Given the description of an element on the screen output the (x, y) to click on. 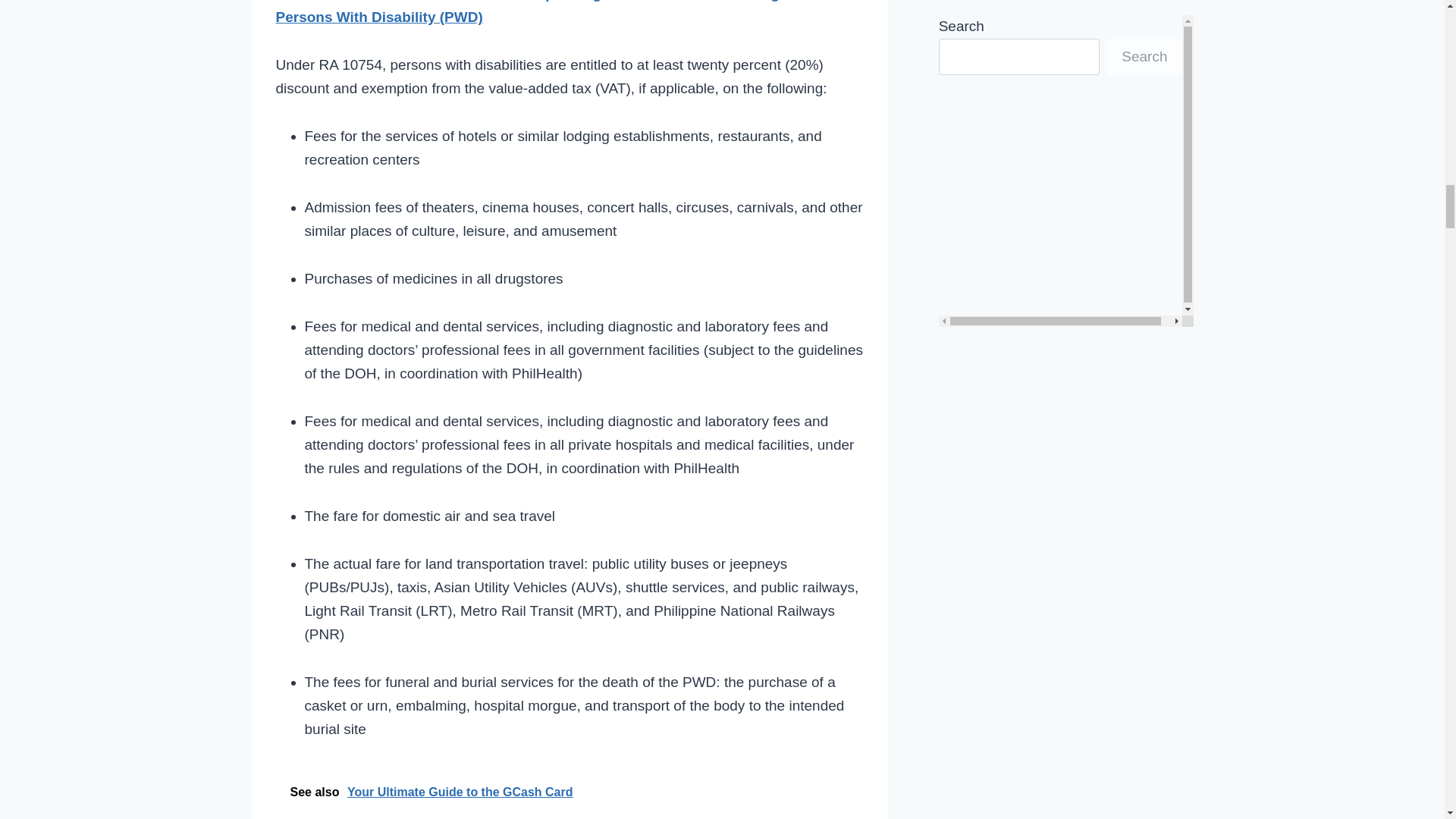
See also  Your Ultimate Guide to the GCash Card (570, 791)
